Given the description of an element on the screen output the (x, y) to click on. 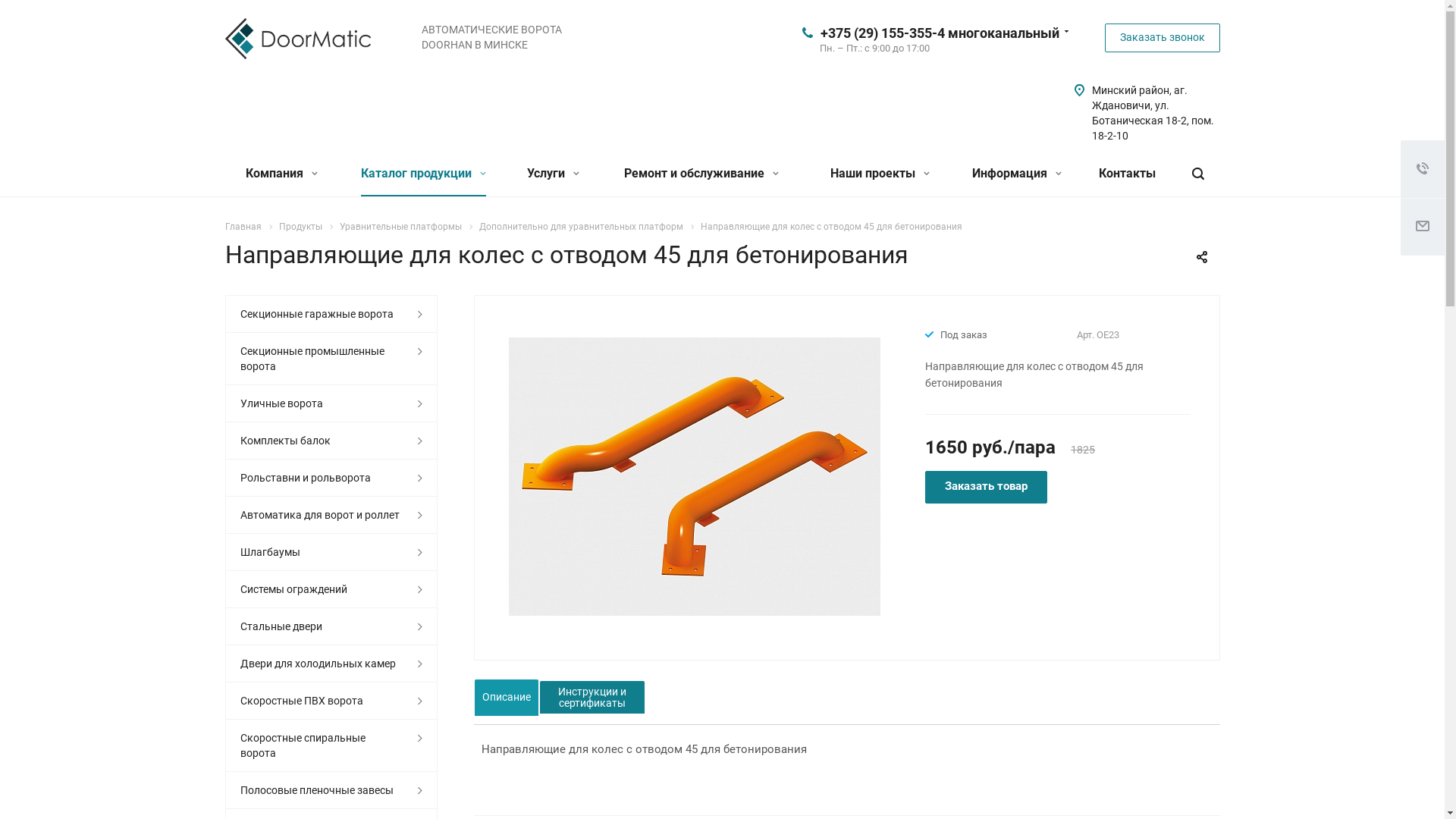
doormatic Element type: hover (297, 38)
